Given the description of an element on the screen output the (x, y) to click on. 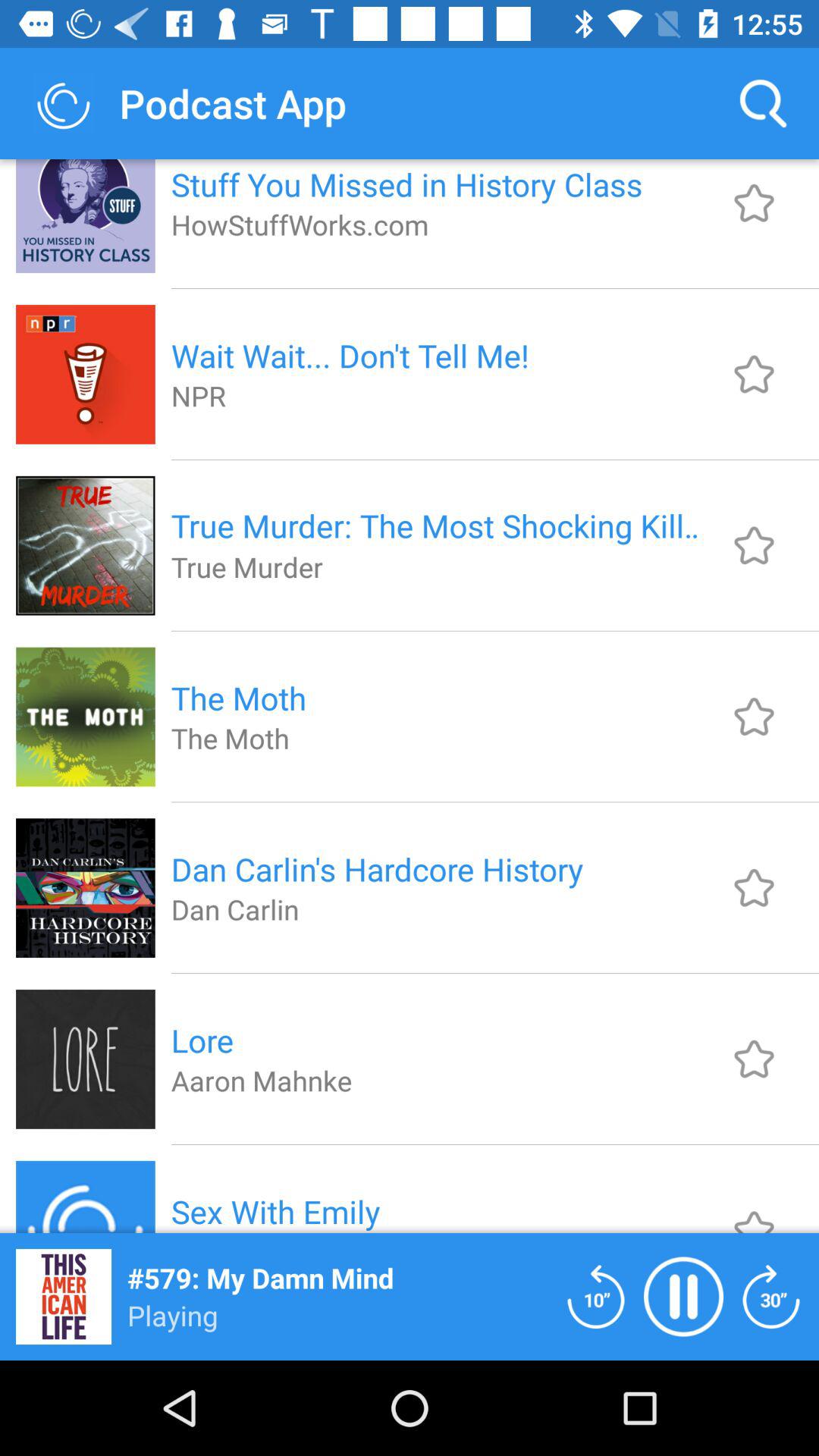
save as favorite (754, 545)
